Given the description of an element on the screen output the (x, y) to click on. 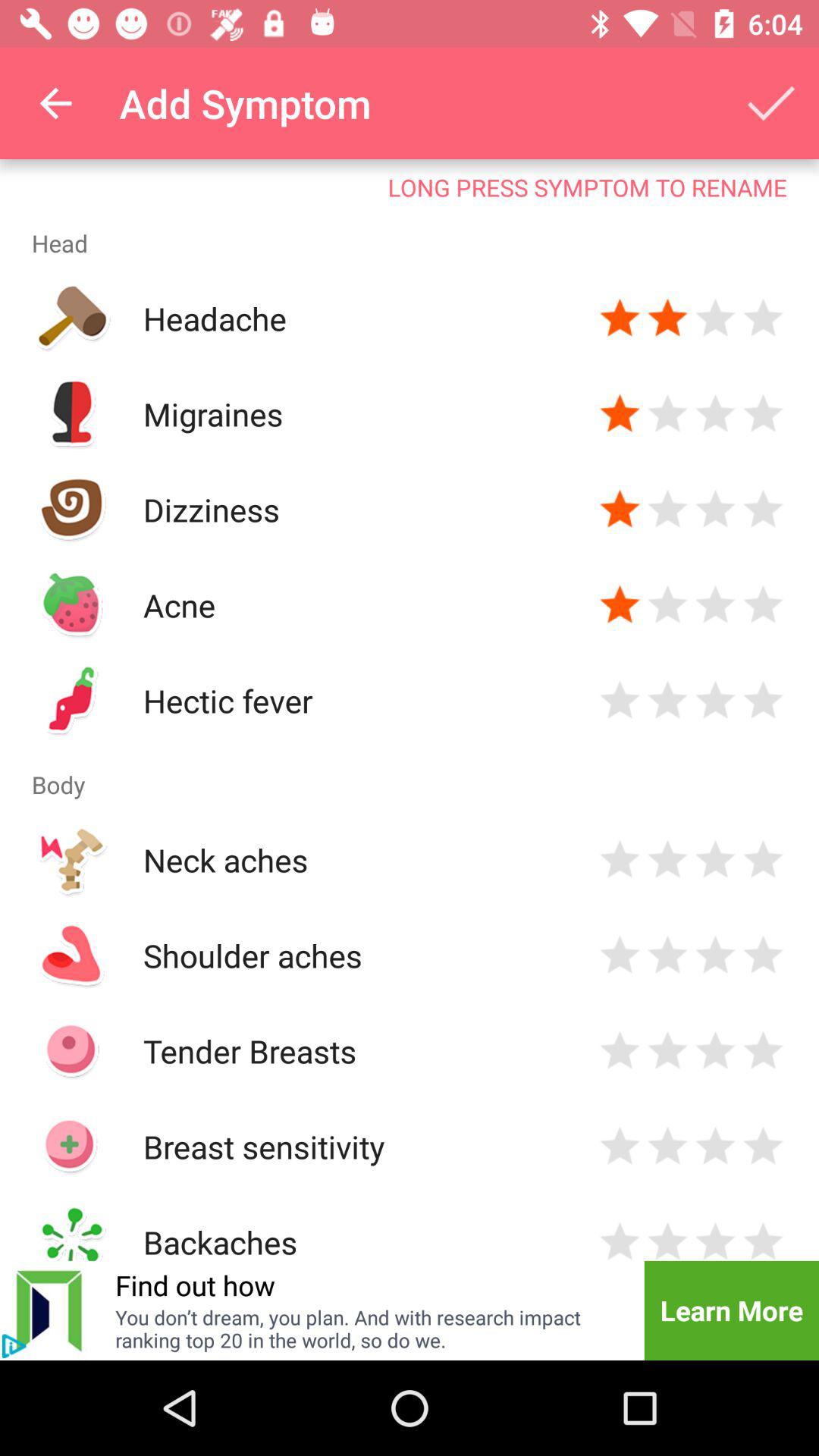
jump until learn more (731, 1310)
